Given the description of an element on the screen output the (x, y) to click on. 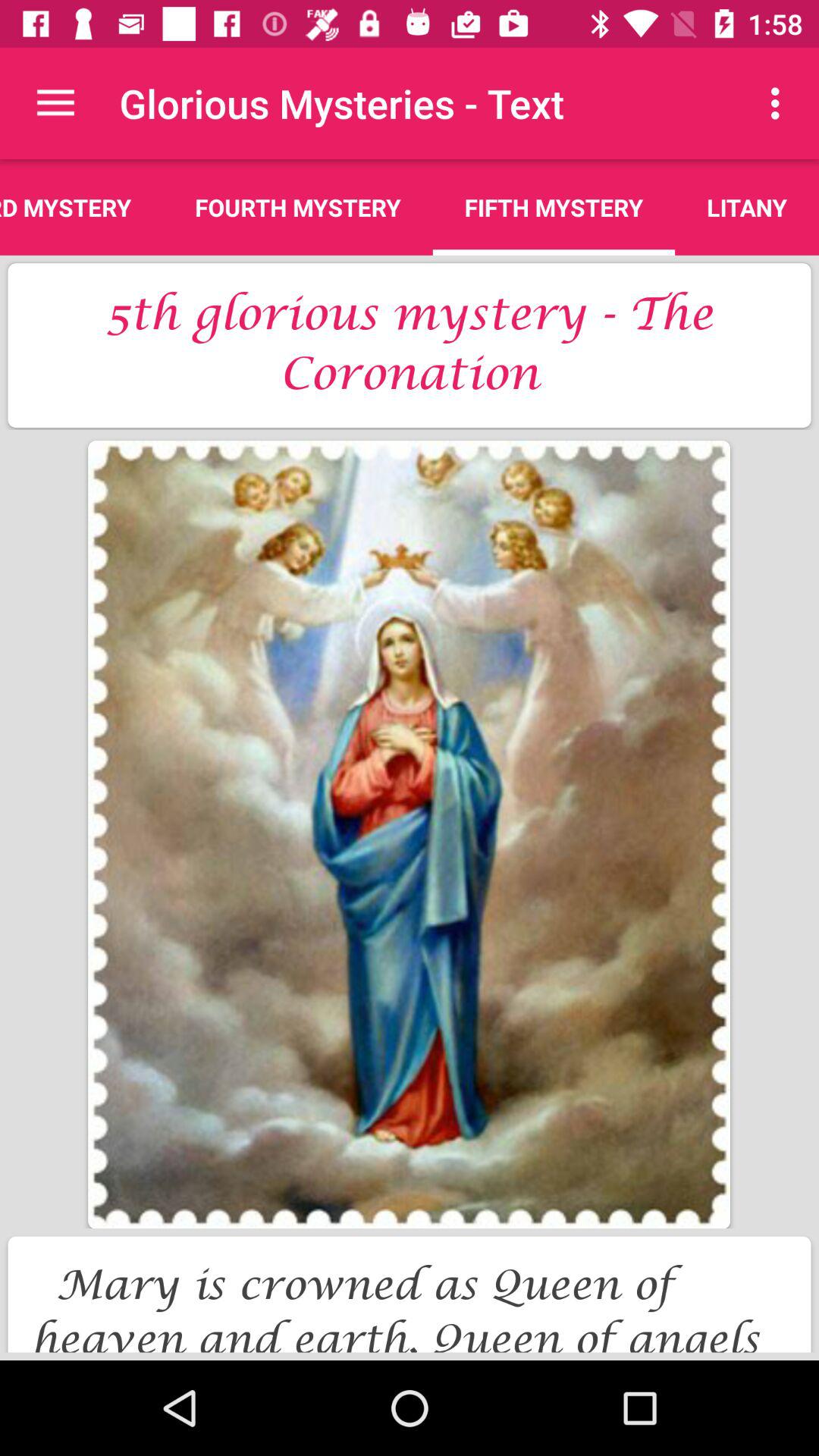
press the item next to the litany (553, 207)
